Given the description of an element on the screen output the (x, y) to click on. 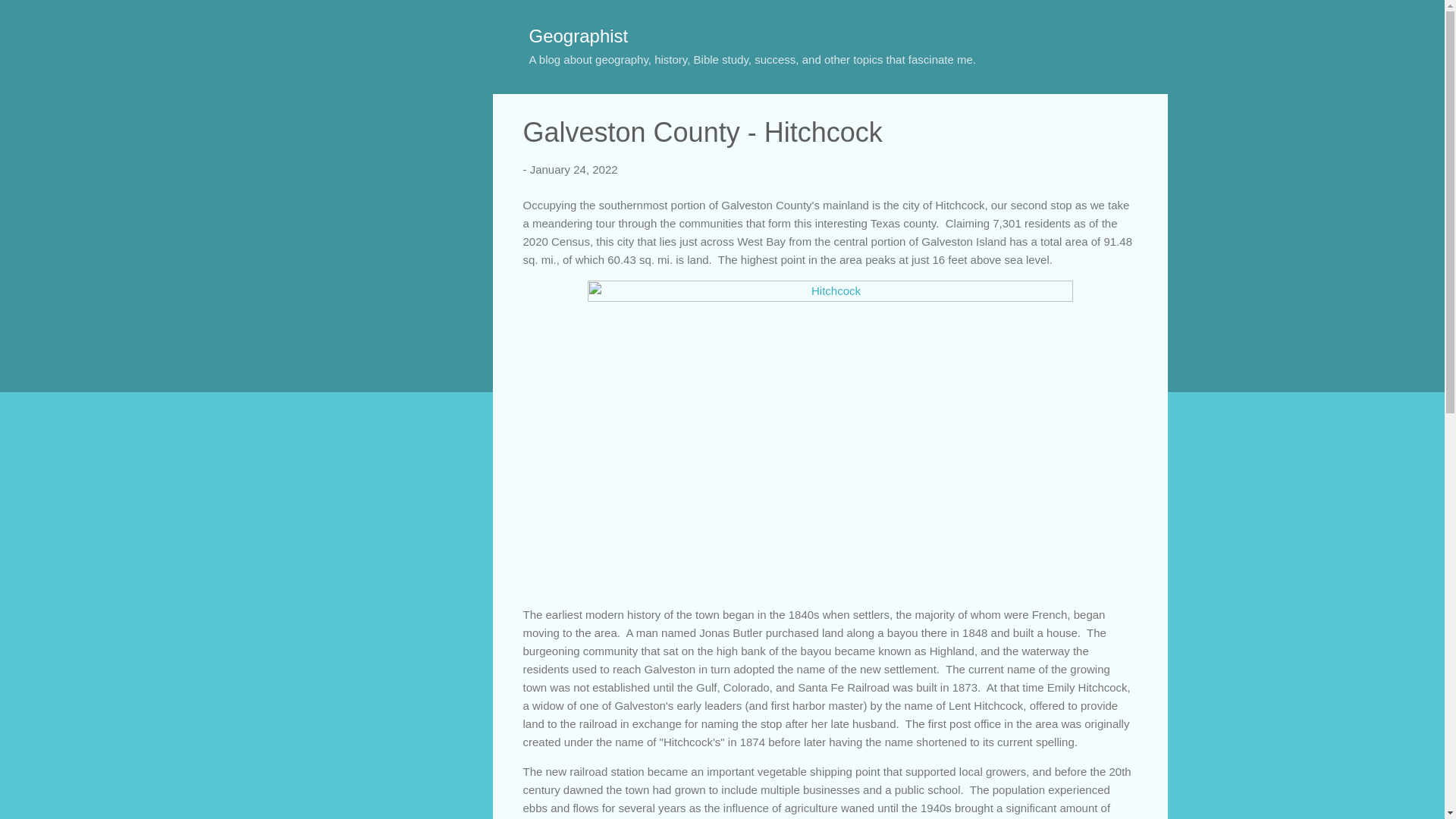
Geographist (578, 35)
Search (29, 18)
permanent link (573, 169)
January 24, 2022 (573, 169)
